Given the description of an element on the screen output the (x, y) to click on. 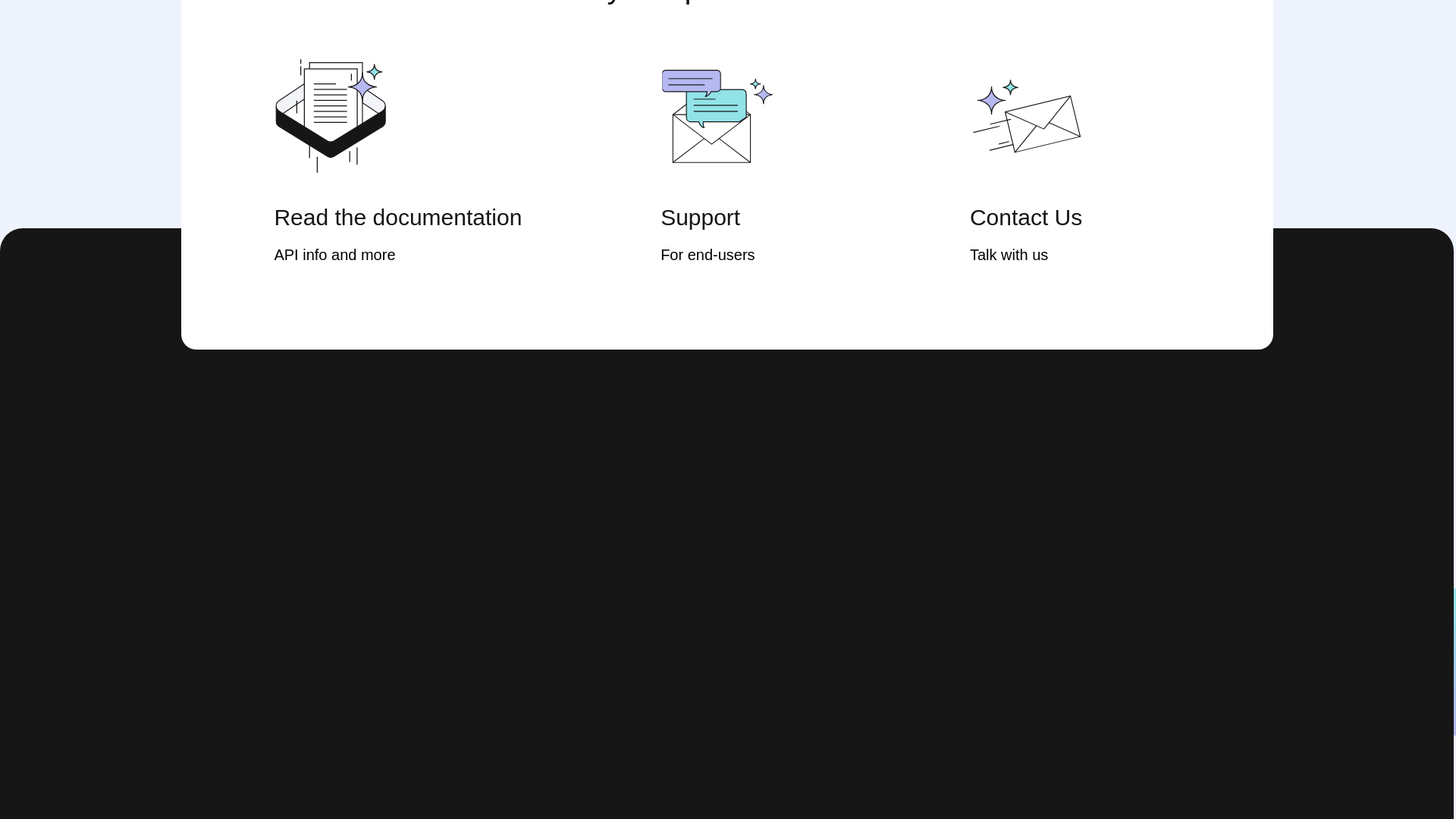
Talk with us (1074, 254)
API info and more (416, 254)
For end-users (765, 254)
